Given the description of an element on the screen output the (x, y) to click on. 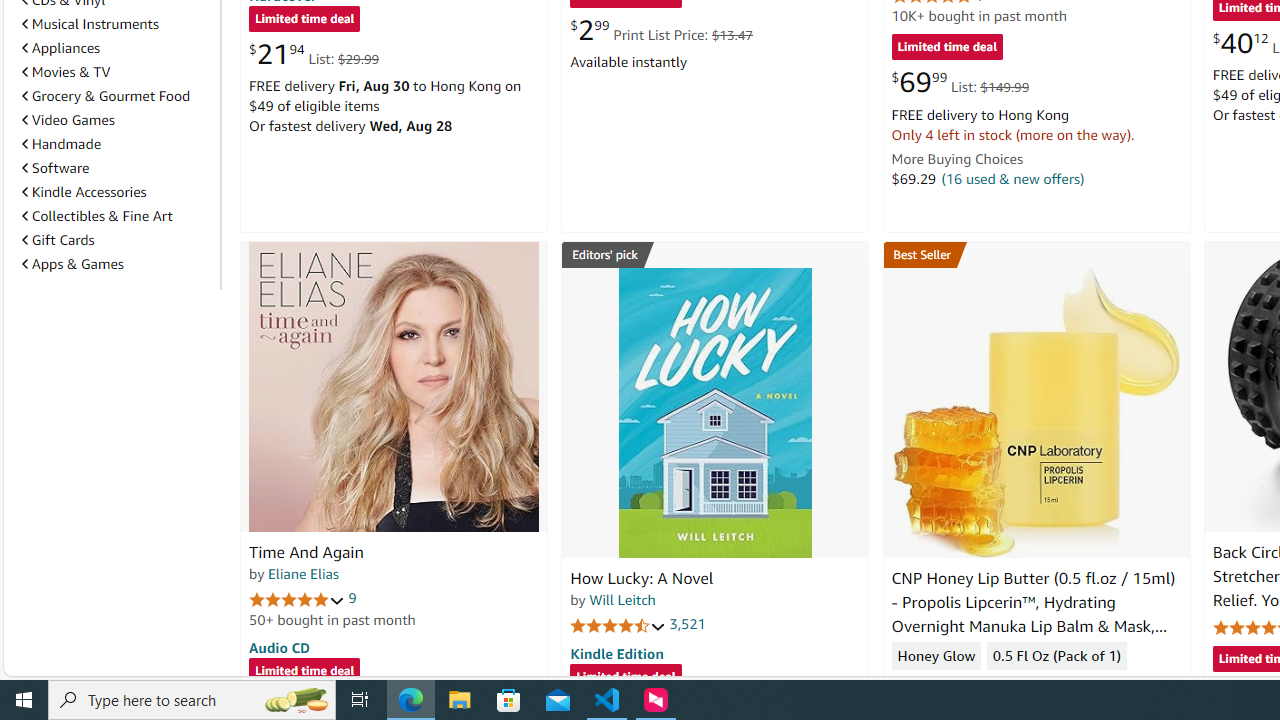
3,521 (687, 624)
9 (352, 597)
Handmade (117, 143)
Movies & TV (66, 71)
Limited time deal (625, 678)
Kindle Edition (616, 653)
Video Games (68, 119)
4.3 out of 5 stars (939, 685)
$21.94 List: $29.99 (314, 54)
Collectibles & Fine Art (96, 215)
(16 used & new offers) (1012, 178)
Time And Again (306, 552)
Audio CD (279, 646)
Apps & Games (72, 263)
